Given the description of an element on the screen output the (x, y) to click on. 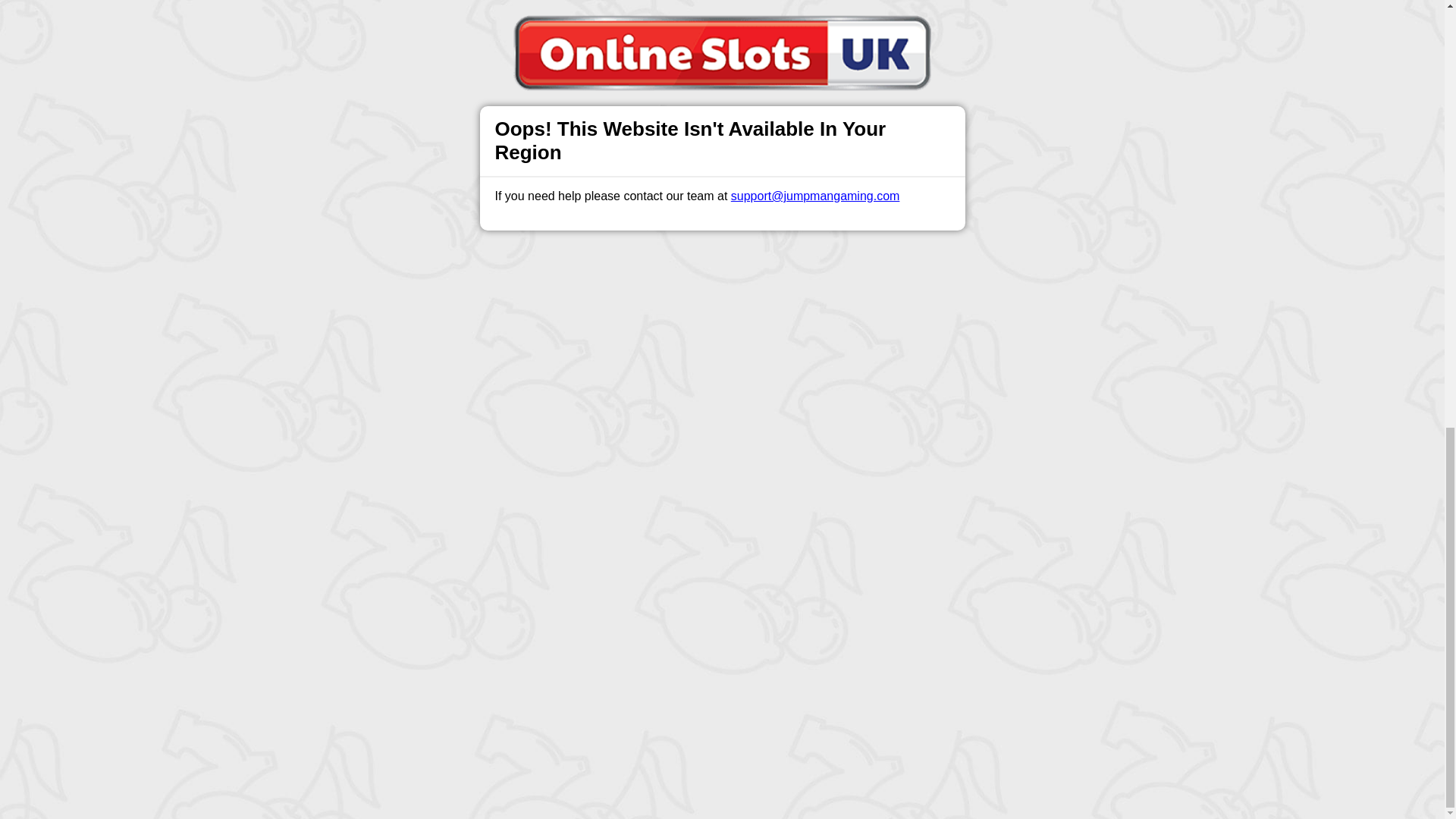
Help (489, 491)
Affiliates (791, 491)
Jumpman Gaming Limited (537, 694)
Responsible Gaming (407, 491)
Blog (738, 491)
Back To All Games (722, 393)
Back To All Games (721, 393)
www.begambleaware.org (615, 657)
www.jumpmancares.co.uk (738, 657)
Privacy Policy (671, 491)
